Given the description of an element on the screen output the (x, y) to click on. 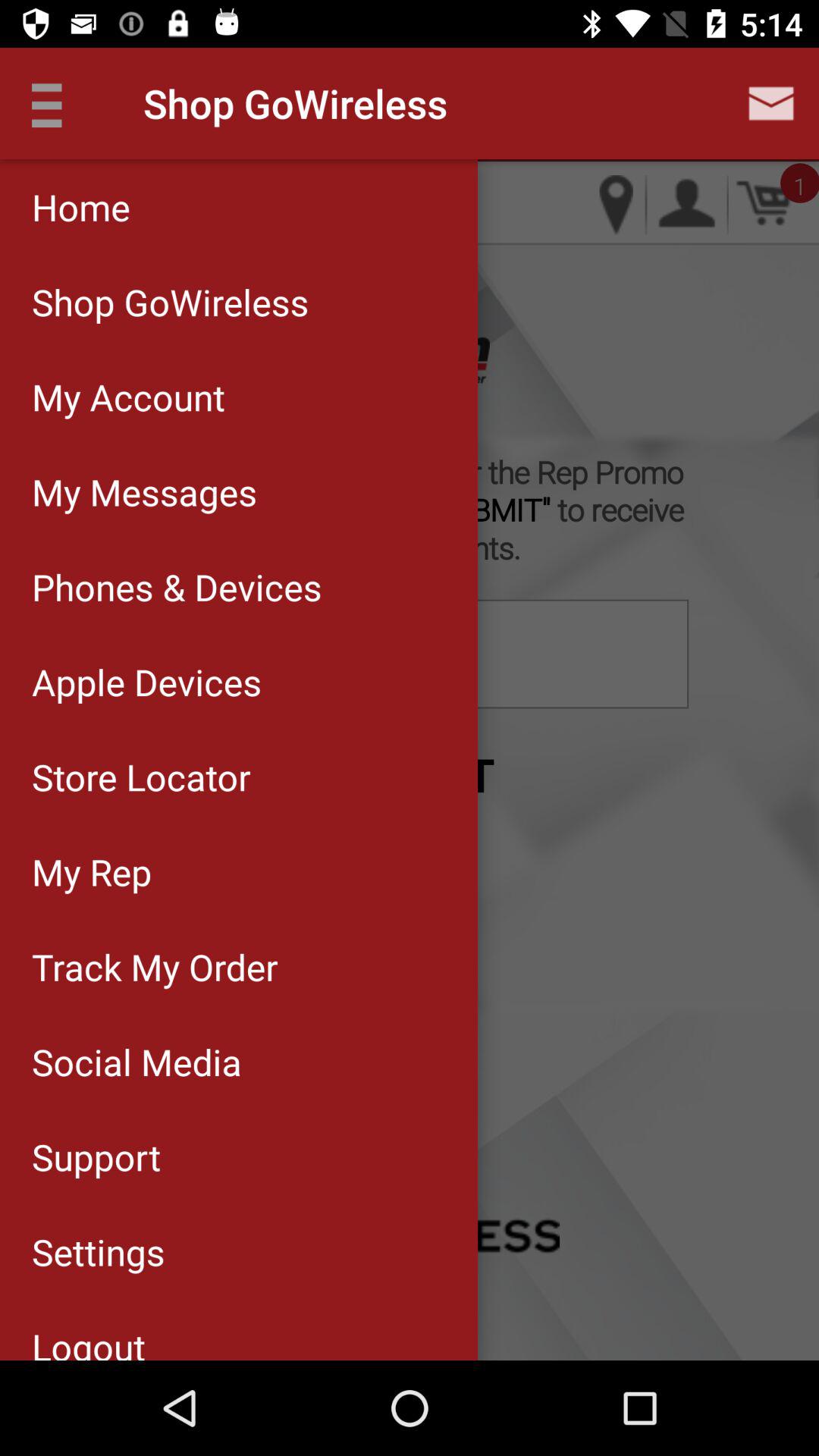
launch the track my order icon (238, 966)
